Given the description of an element on the screen output the (x, y) to click on. 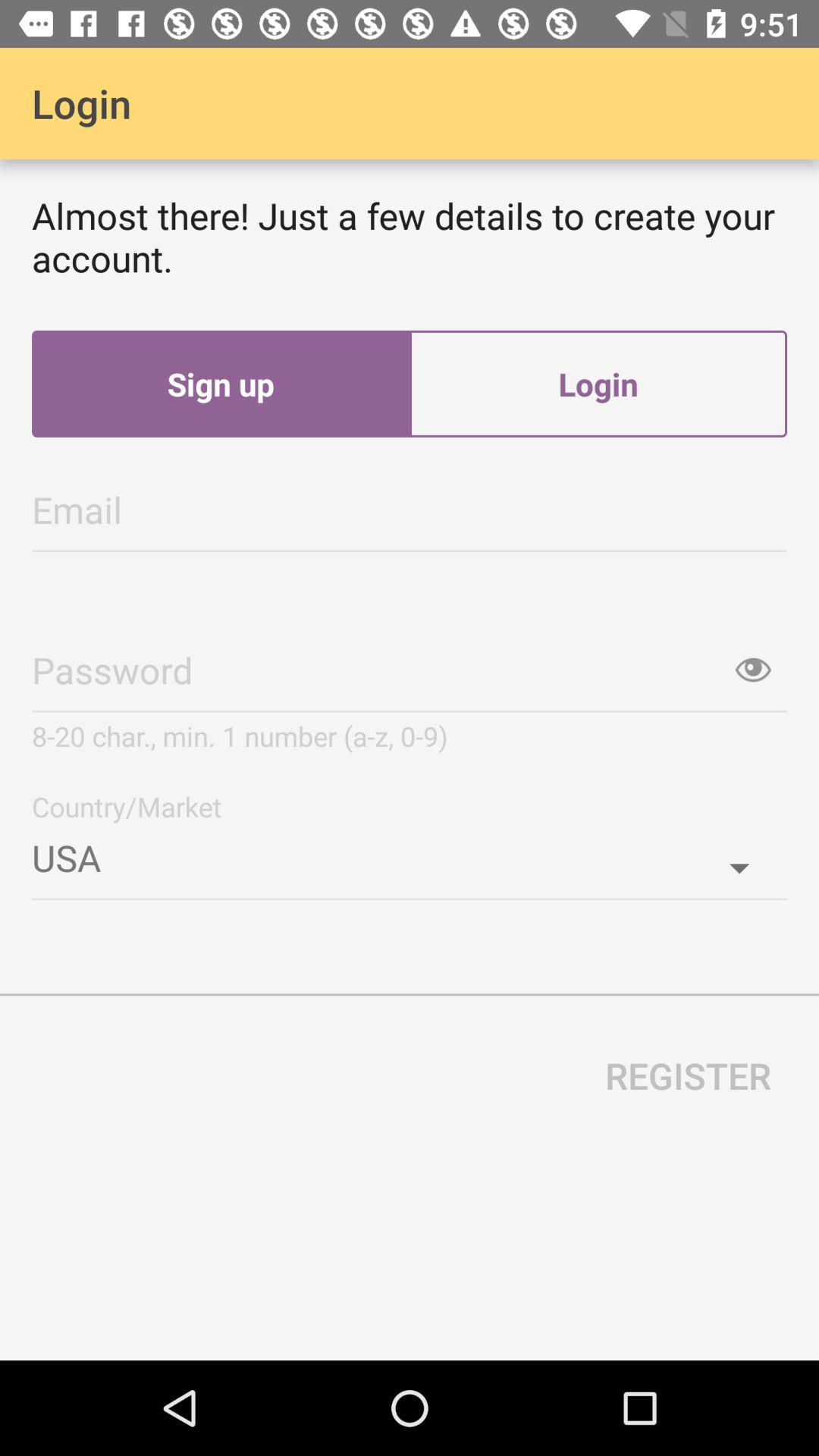
jump until register item (688, 1075)
